Given the description of an element on the screen output the (x, y) to click on. 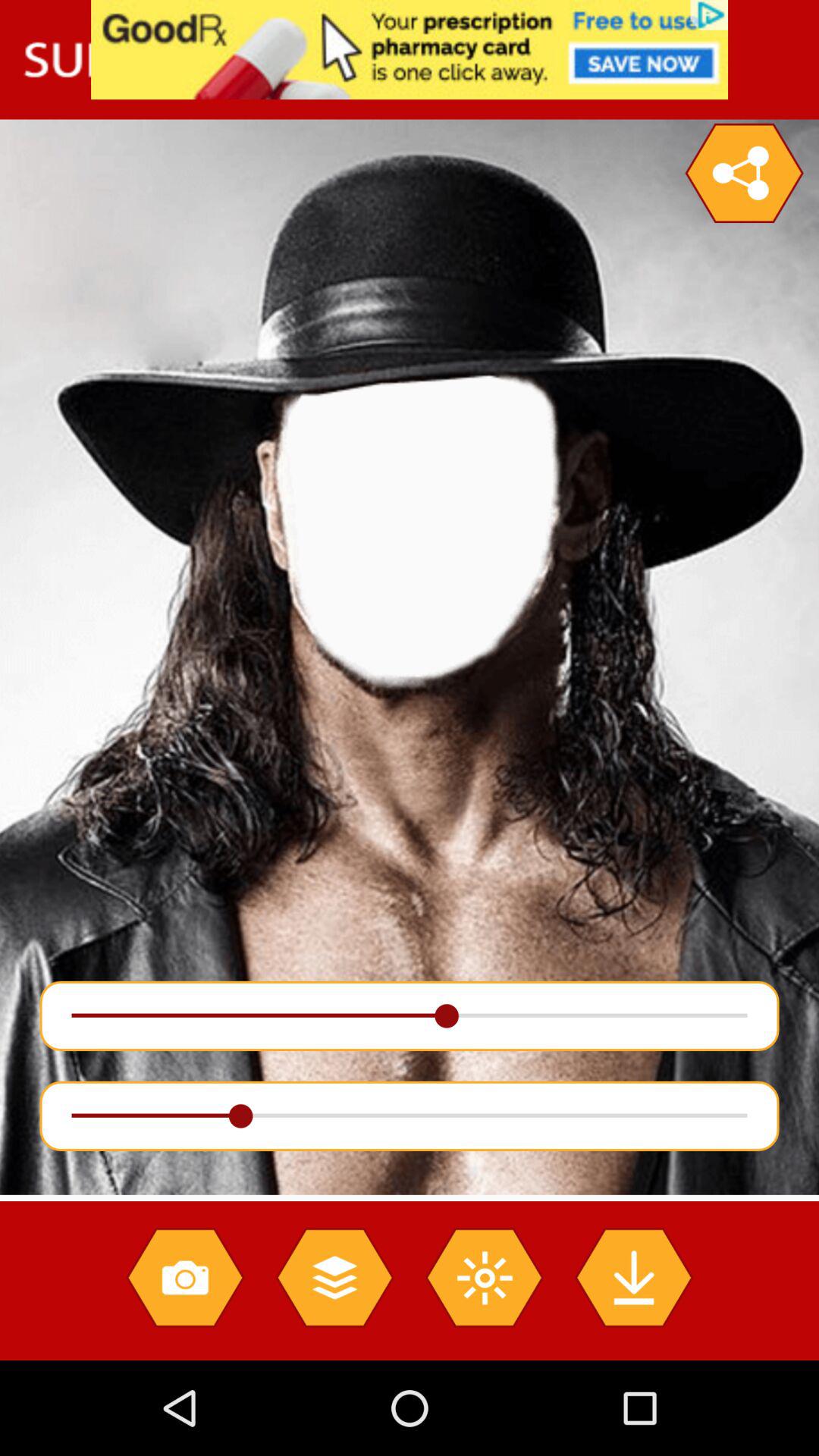
settin (744, 172)
